Given the description of an element on the screen output the (x, y) to click on. 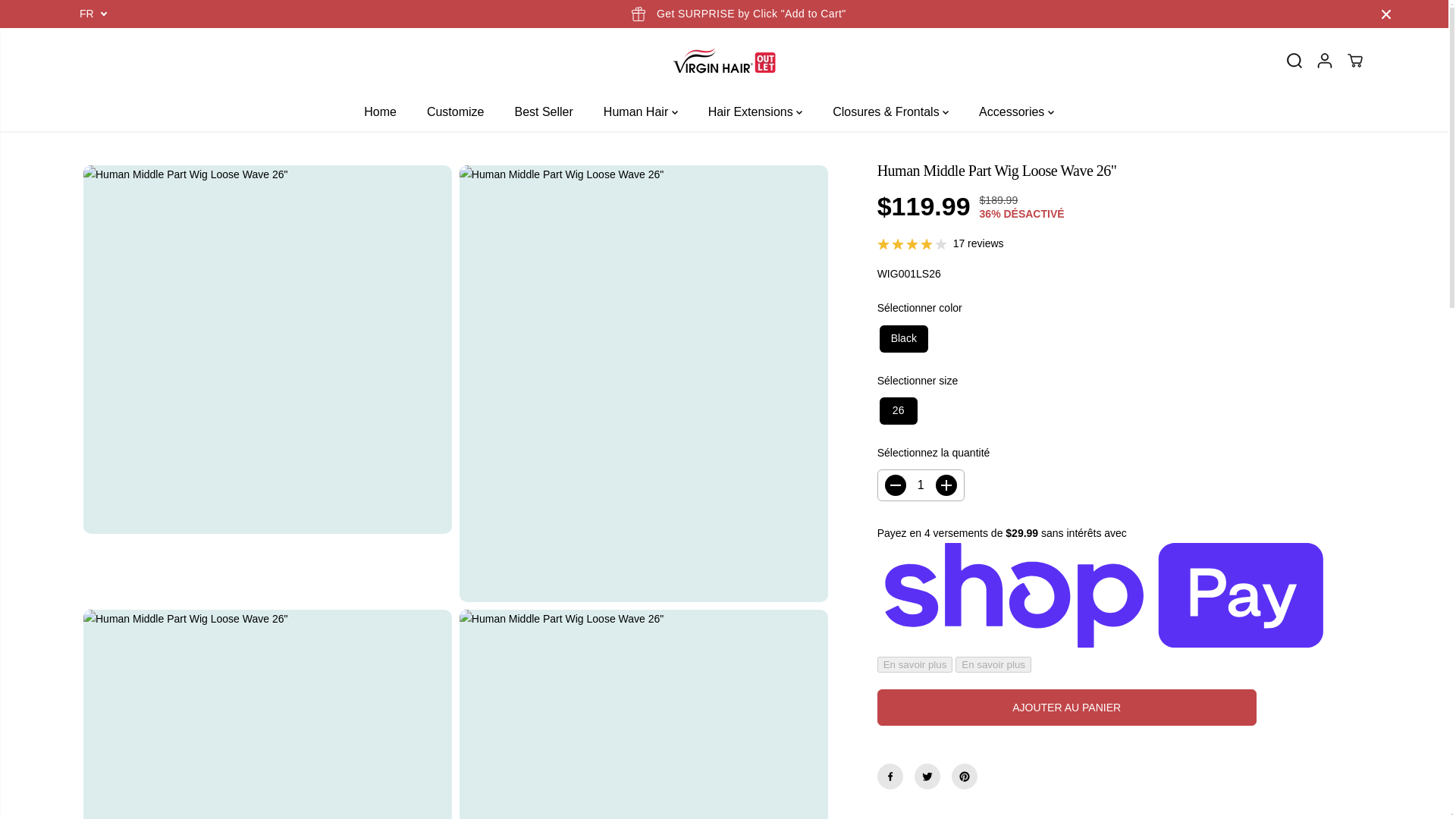
Pinterest (964, 776)
26 (895, 411)
Connexion (1324, 60)
Recherche (1294, 60)
Twitter (927, 776)
Black (900, 338)
Black (900, 338)
Best Seller (554, 112)
26 (895, 411)
Facebook (889, 776)
